Given the description of an element on the screen output the (x, y) to click on. 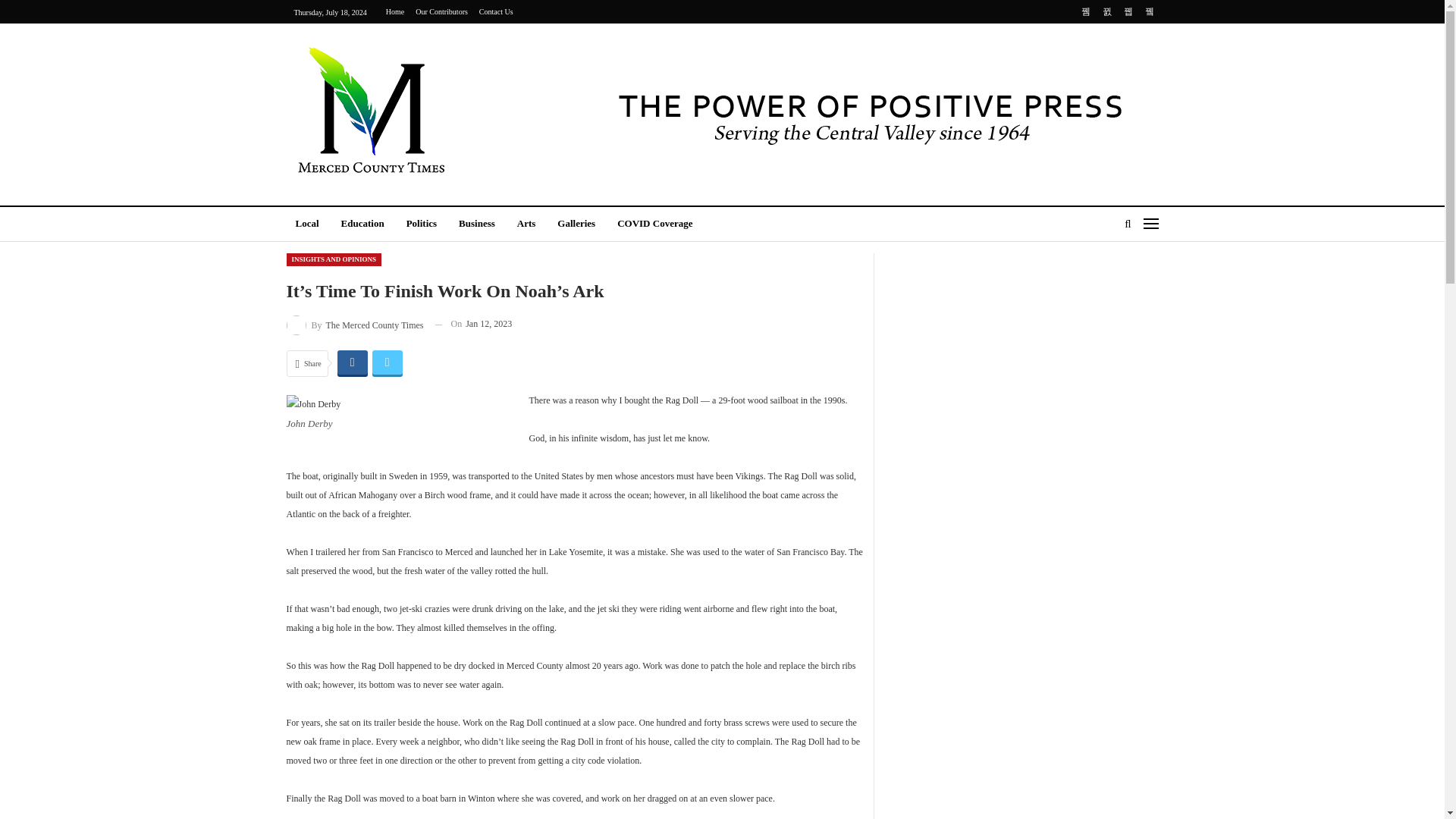
INSIGHTS AND OPINIONS (333, 259)
COVID Coverage (654, 224)
Education (362, 224)
Contact Us (496, 11)
Local (307, 224)
Business (476, 224)
Browse Author Articles (354, 323)
Galleries (576, 224)
Home (394, 11)
Arts (526, 224)
Politics (421, 224)
Our Contributors (440, 11)
By The Merced County Times (354, 323)
